Given the description of an element on the screen output the (x, y) to click on. 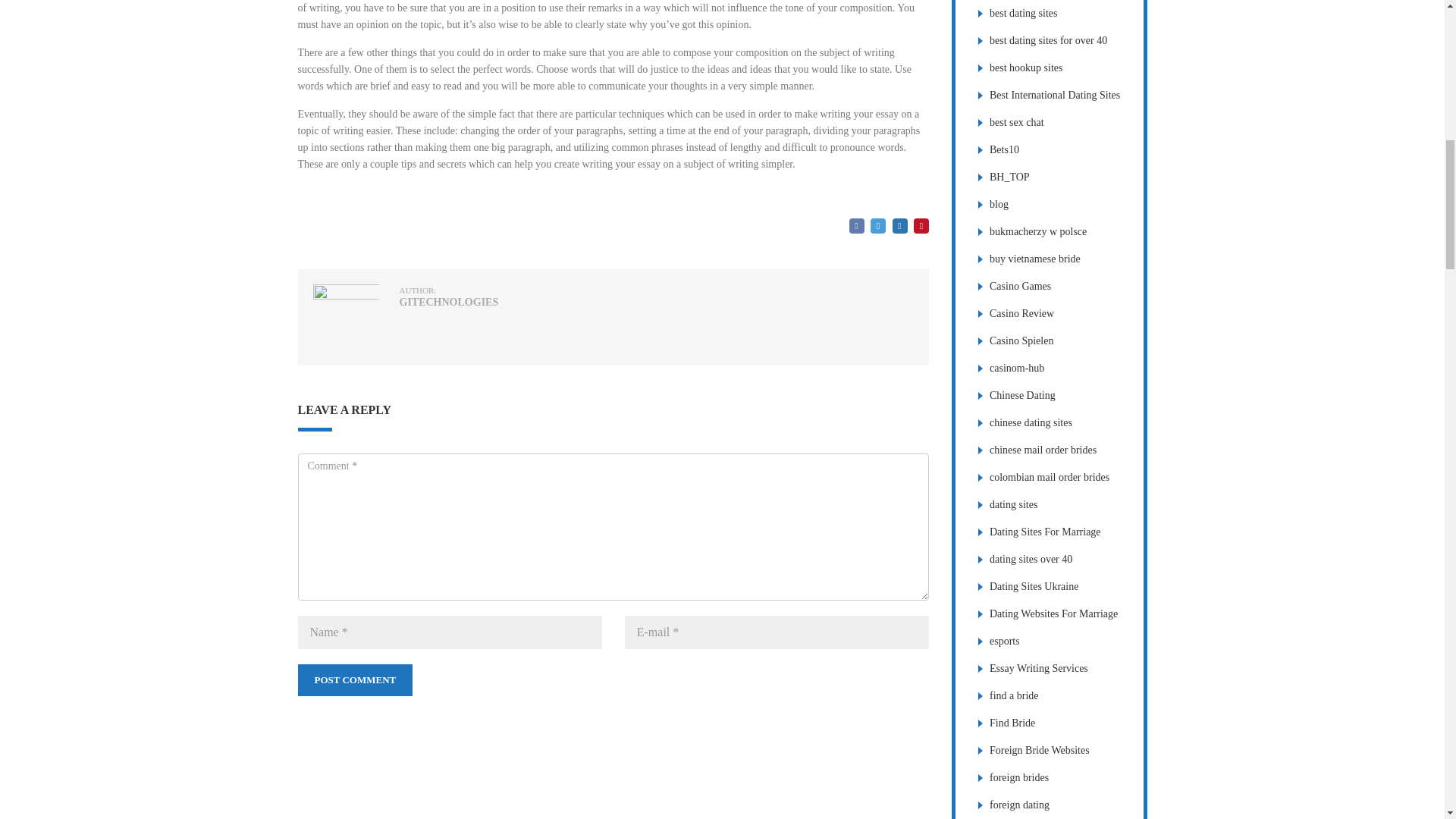
best hookup sites (1026, 67)
POST COMMENT (354, 680)
best dating sites (1023, 12)
best dating sites for over 40 (1048, 40)
Best International Dating Sites (1054, 94)
